Given the description of an element on the screen output the (x, y) to click on. 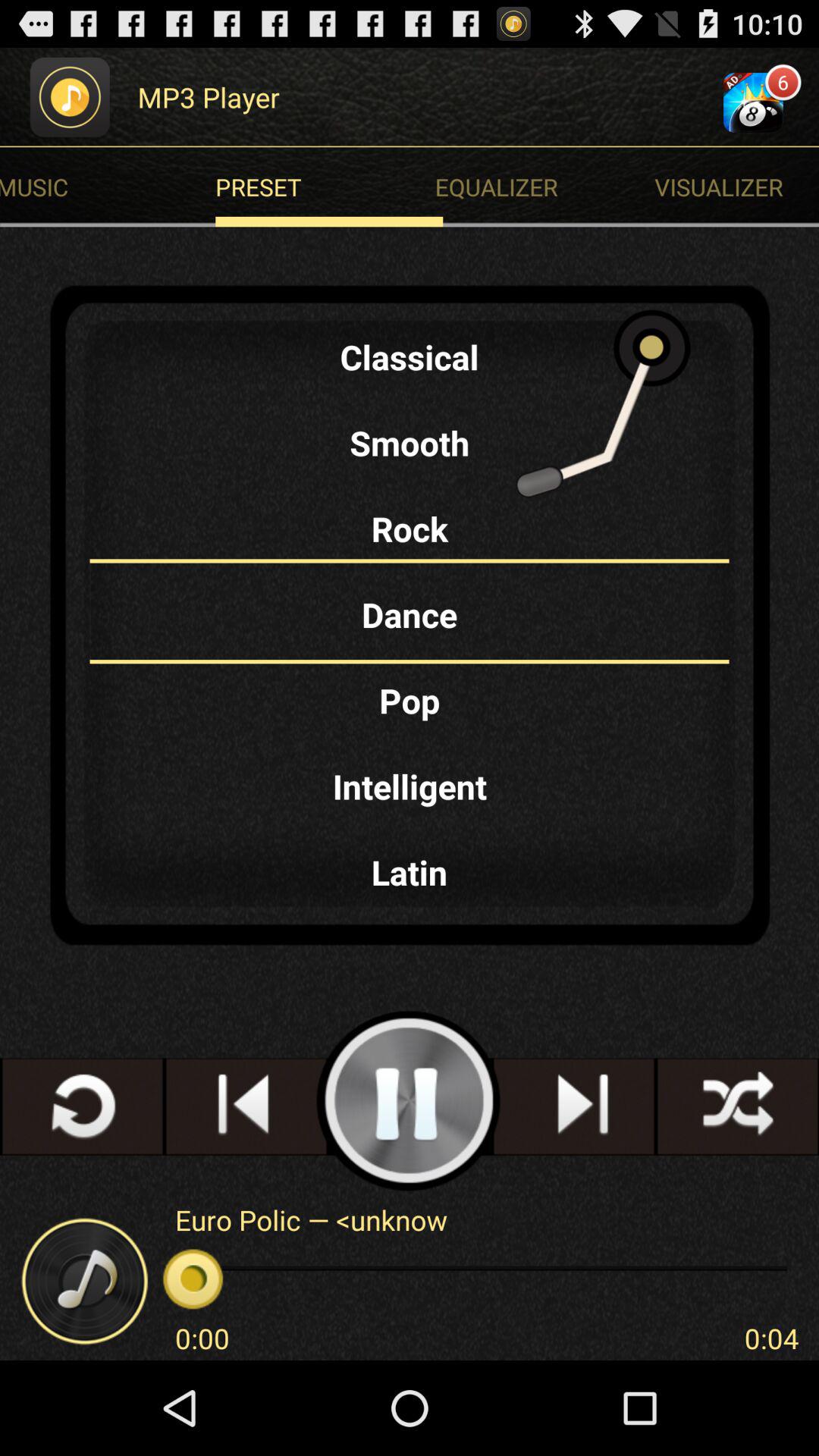
turn off radio button to the left of visualizer icon (329, 186)
